Given the description of an element on the screen output the (x, y) to click on. 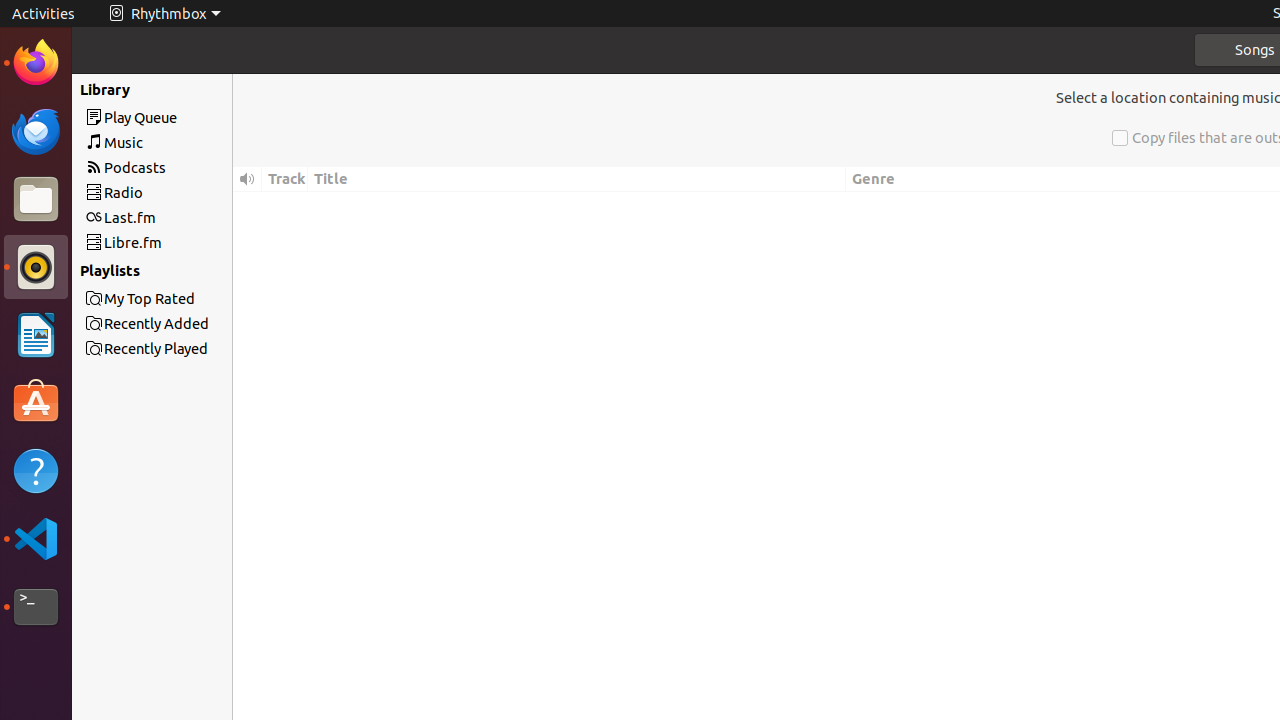
IsaHelpMain.desktop Element type: label (133, 300)
Title Element type: table-column-header (577, 179)
Play Queue Element type: table-cell (188, 117)
